Given the description of an element on the screen output the (x, y) to click on. 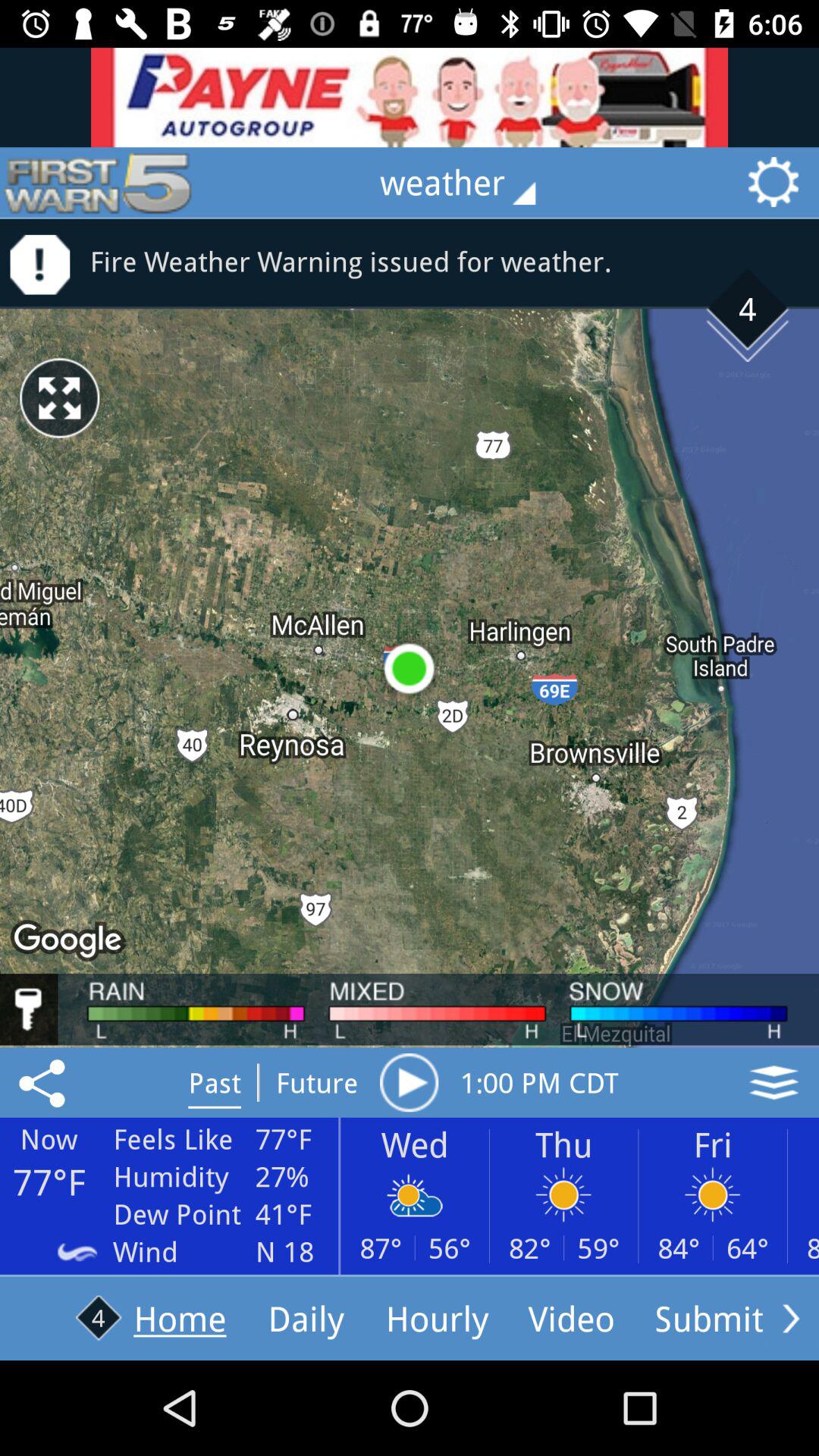
visual explanation button (774, 1082)
